Given the description of an element on the screen output the (x, y) to click on. 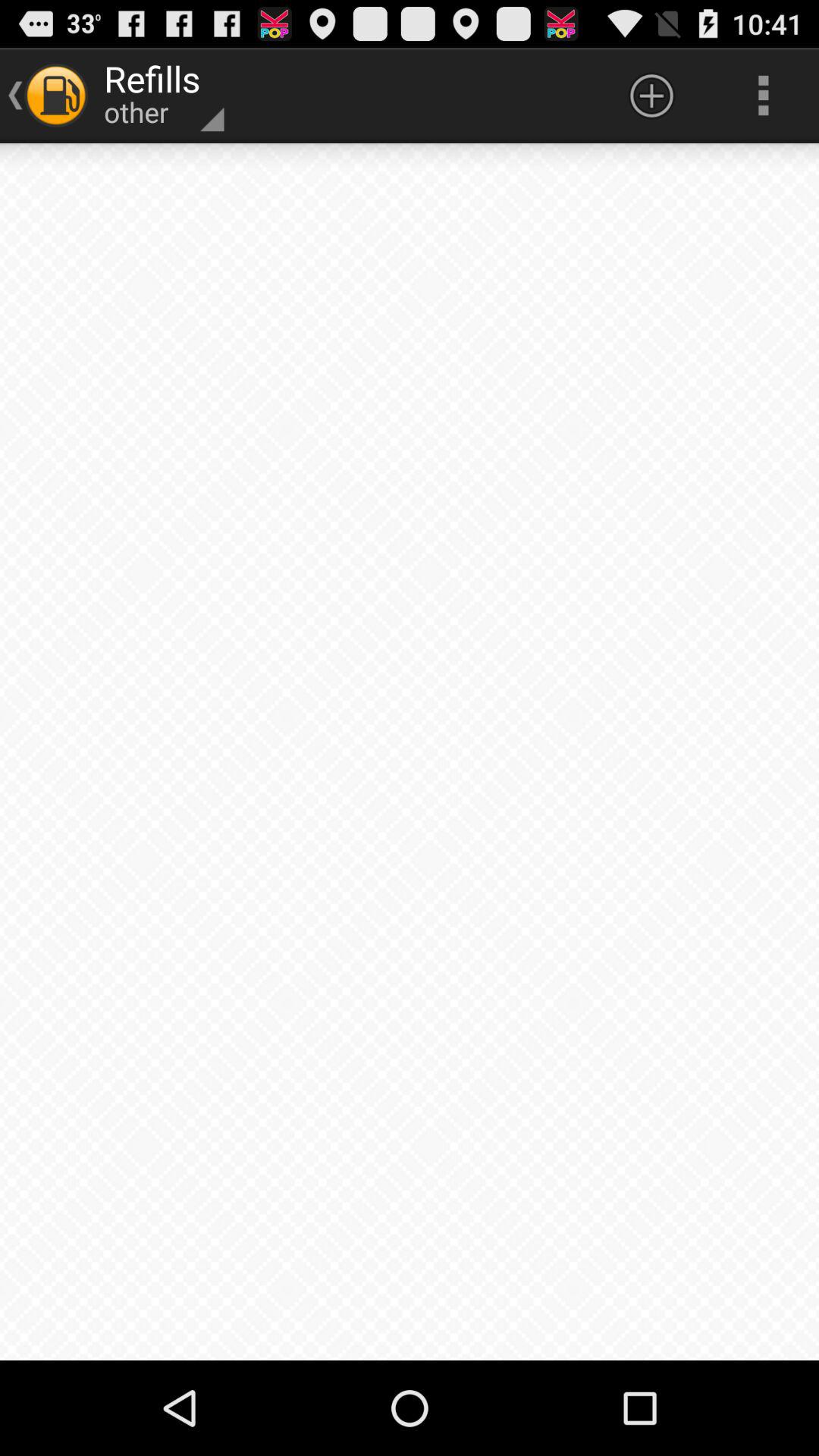
select the image (409, 751)
